Given the description of an element on the screen output the (x, y) to click on. 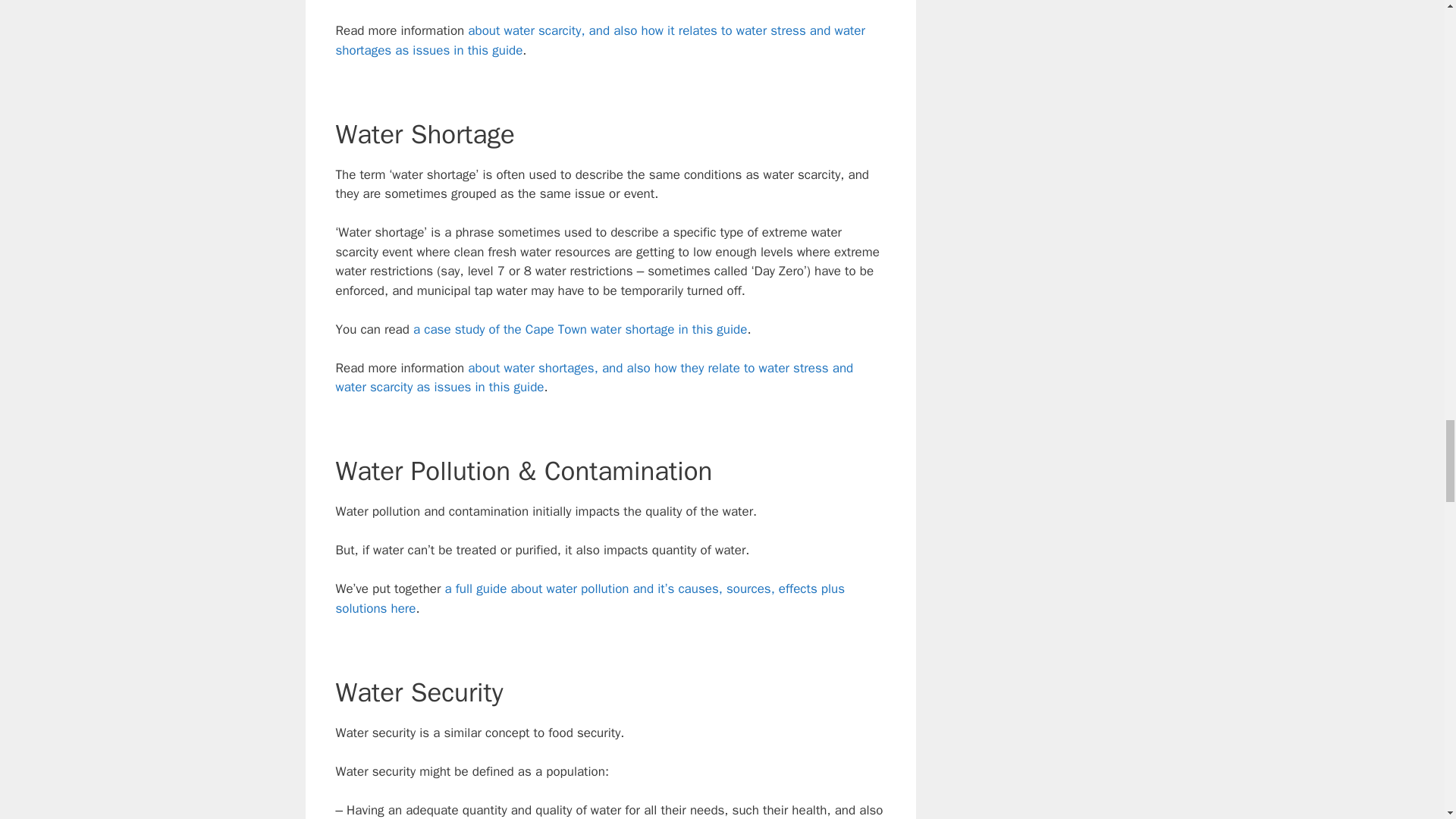
a case study of the Cape Town water shortage in this guide (579, 329)
